Given the description of an element on the screen output the (x, y) to click on. 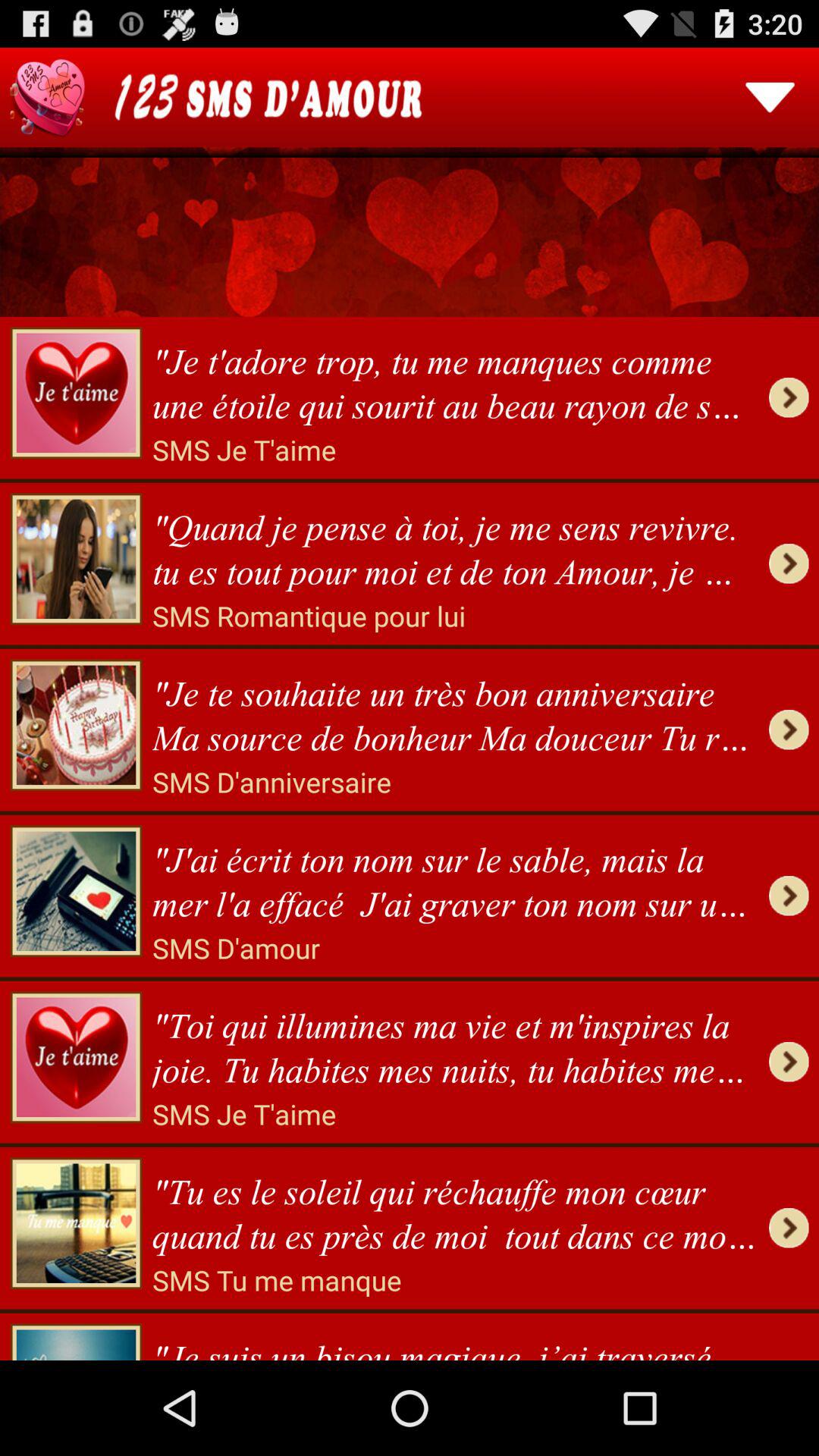
select the fifth image in the fifth row (75, 1056)
